Given the description of an element on the screen output the (x, y) to click on. 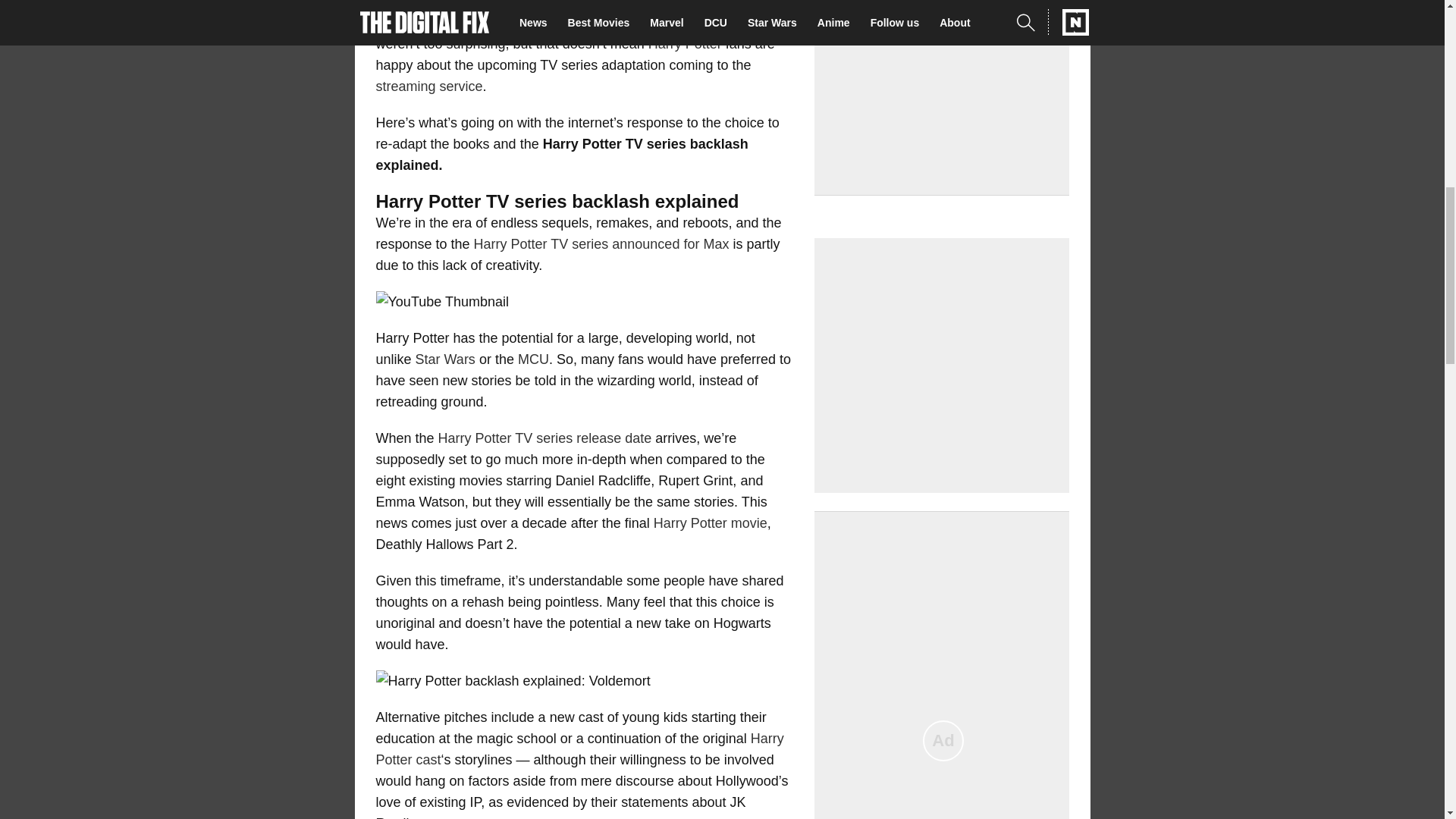
Harry Potter TV series announced for Max (601, 243)
HBO Max (671, 22)
Harry Potter (684, 43)
streaming service (429, 86)
Star Wars (445, 359)
